Given the description of an element on the screen output the (x, y) to click on. 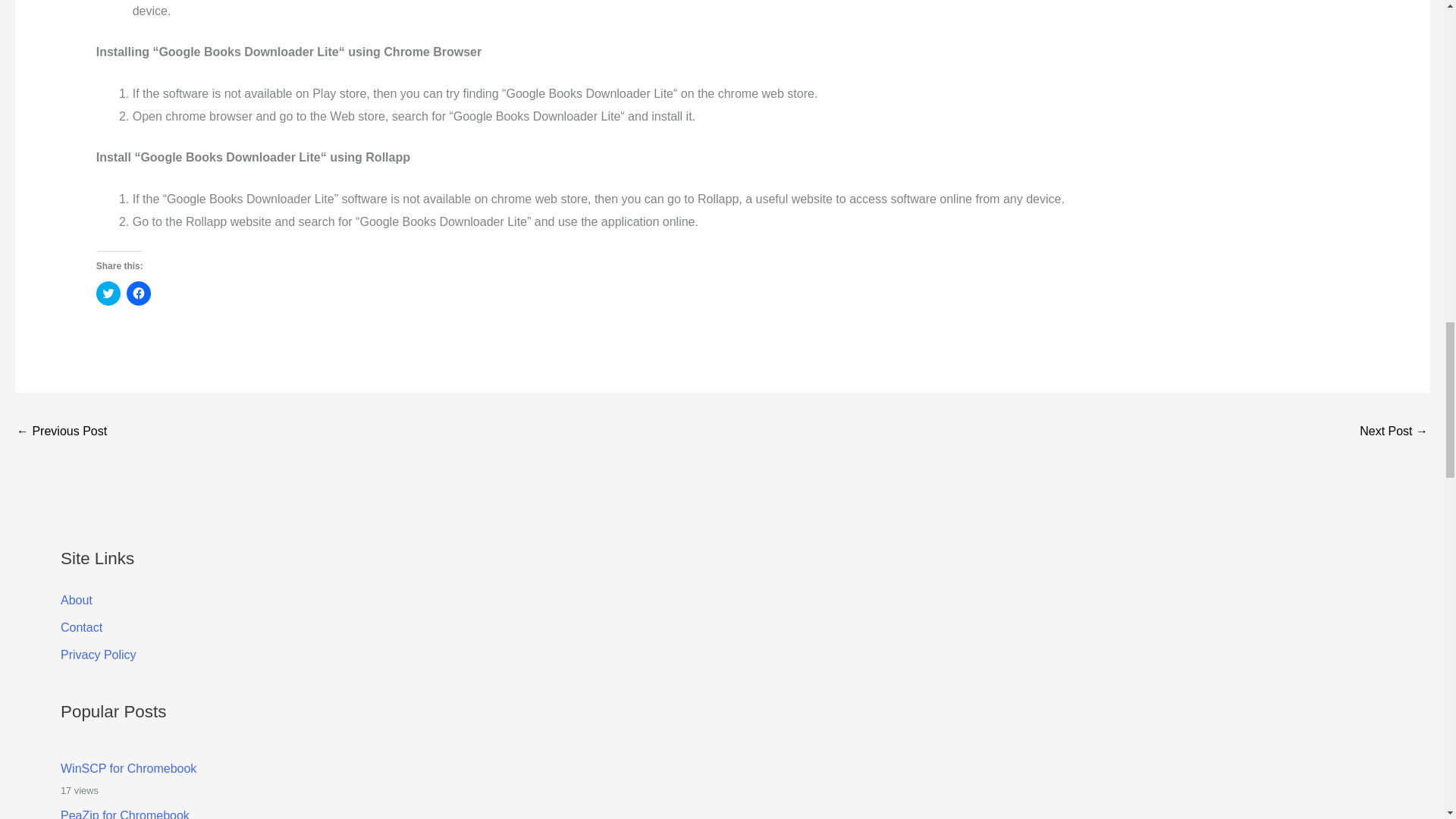
Click to share on Twitter (108, 293)
Click to share on Facebook (138, 293)
Privacy Policy (98, 654)
Contact (81, 626)
Gladinet Cloud Desktop for Chromebook (61, 432)
iSafePlay for Chromebook (1393, 432)
PeaZip for Chromebook (125, 814)
WinSCP for Chromebook (128, 768)
About (77, 599)
